Given the description of an element on the screen output the (x, y) to click on. 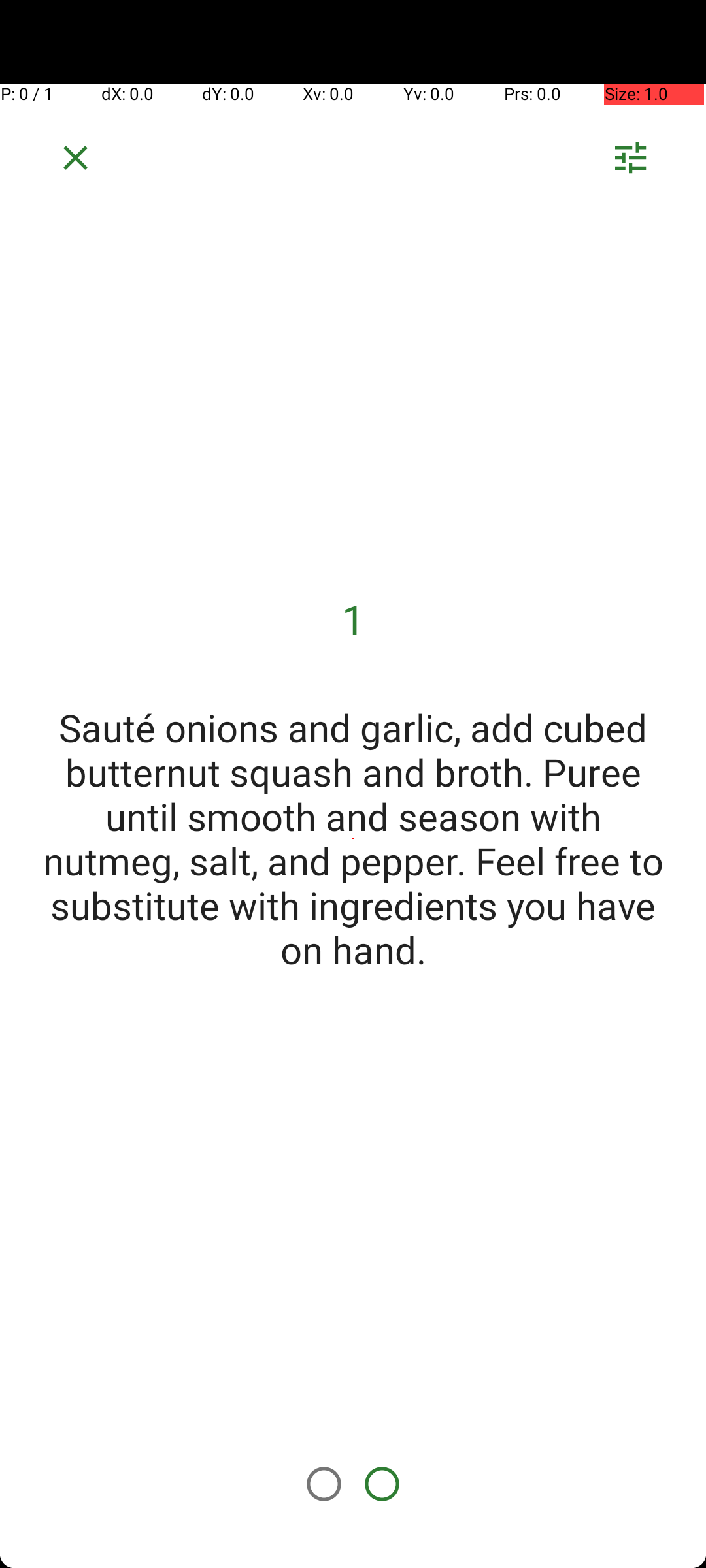
Sauté onions and garlic, add cubed butternut squash and broth. Puree until smooth and season with nutmeg, salt, and pepper. Feel free to substitute with ingredients you have on hand. Element type: android.widget.TextView (352, 837)
